Given the description of an element on the screen output the (x, y) to click on. 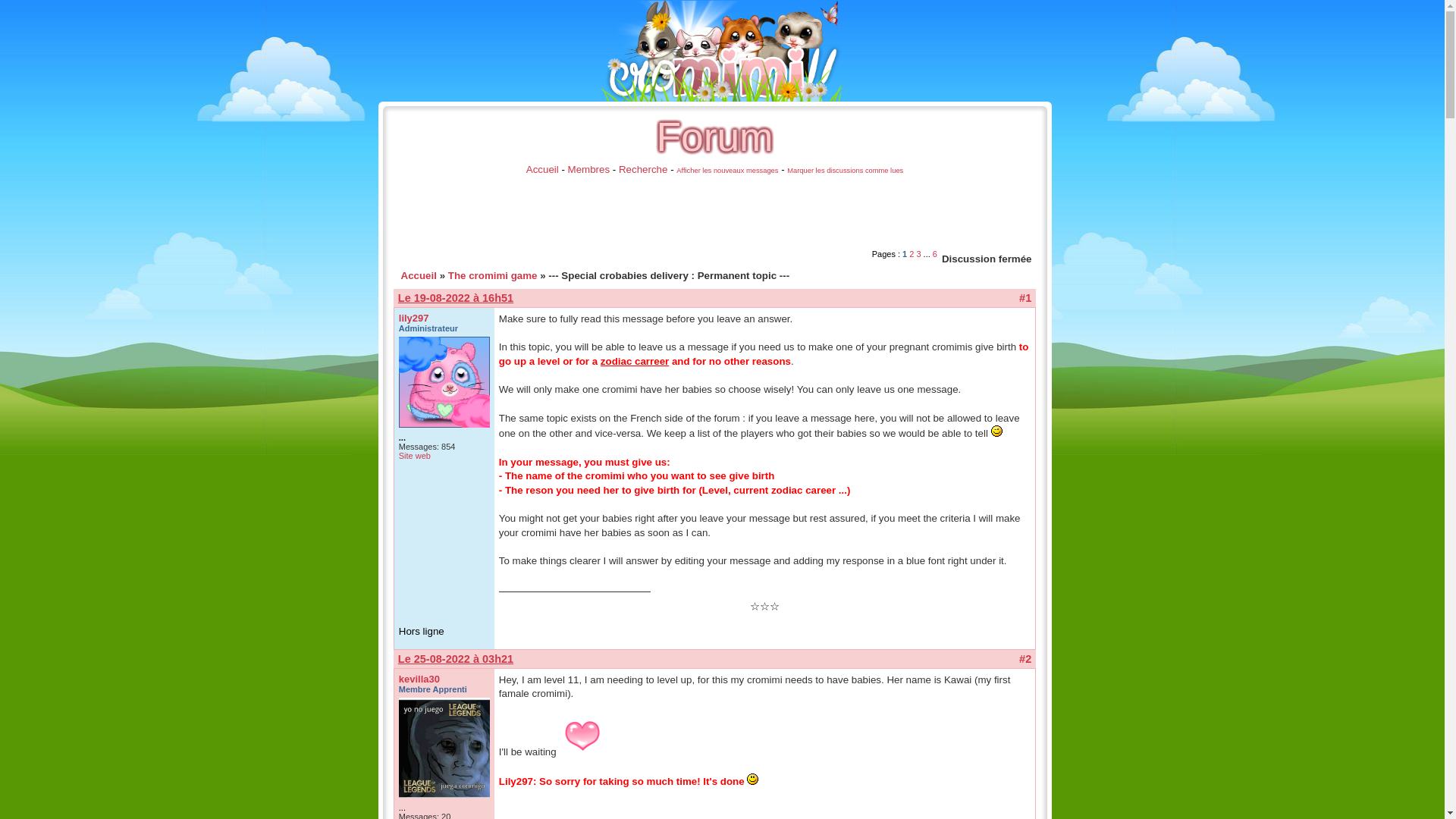
Accueil (417, 275)
Accueil (542, 169)
Advertisement (666, 213)
Recherche (642, 169)
kevilla30 (418, 678)
Marquer les discussions comme lues (844, 170)
The cromimi game (492, 275)
Afficher les nouveaux messages (727, 170)
Adopt a Virtual Pet - Animal Breeding Games Online (721, 50)
Membres (588, 169)
lily297 (413, 317)
Site web (414, 455)
